Given the description of an element on the screen output the (x, y) to click on. 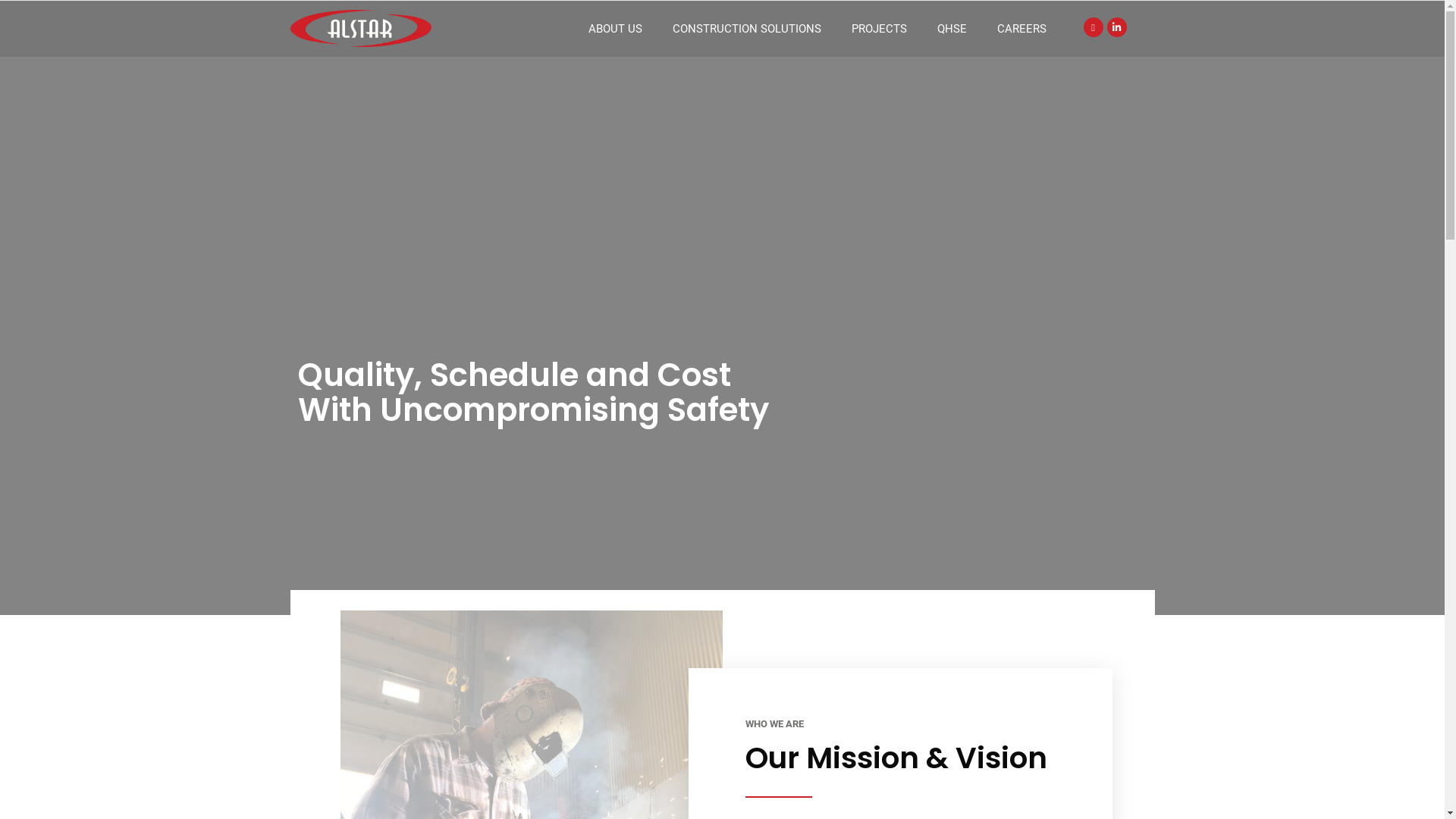
PROJECTS Element type: text (879, 28)
QHSE Element type: text (952, 28)
CAREERS Element type: text (1021, 28)
CONSTRUCTION SOLUTIONS Element type: text (746, 28)
ABOUT US Element type: text (615, 28)
